Given the description of an element on the screen output the (x, y) to click on. 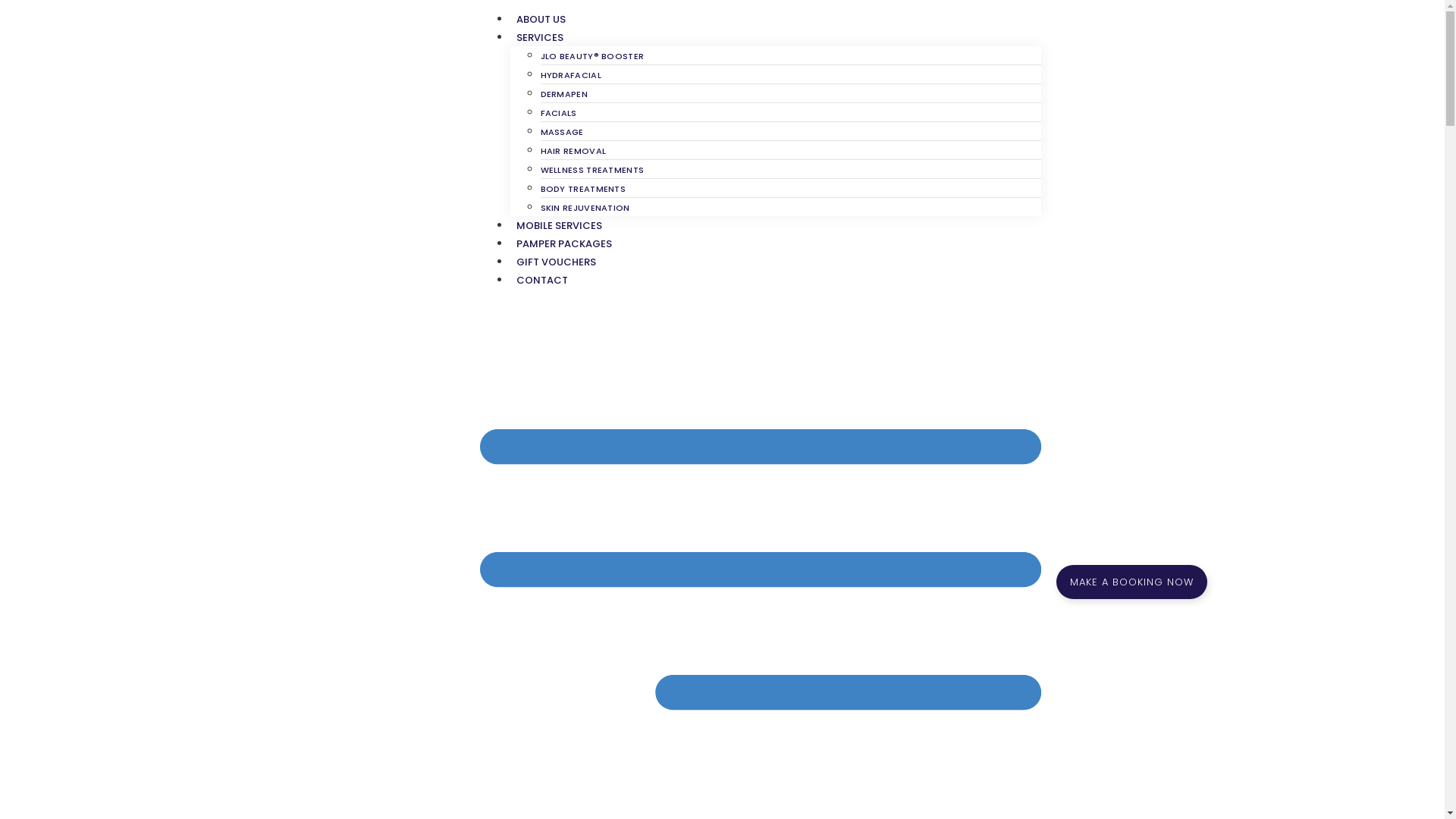
HYDRAFACIAL Element type: text (569, 75)
MAKE A BOOKING NOW Element type: text (1131, 581)
CONTACT Element type: text (541, 279)
FACIALS Element type: text (557, 112)
BODY TREATMENTS Element type: text (582, 188)
HAIR REMOVAL Element type: text (572, 150)
DERMAPEN Element type: text (562, 93)
MOBILE SERVICES Element type: text (558, 225)
WELLNESS TREATMENTS Element type: text (591, 169)
MASSAGE Element type: text (561, 131)
ABOUT US Element type: text (540, 19)
PAMPER PACKAGES Element type: text (563, 243)
SERVICES Element type: text (538, 37)
SKIN REJUVENATION Element type: text (584, 207)
GIFT VOUCHERS Element type: text (555, 261)
